Given the description of an element on the screen output the (x, y) to click on. 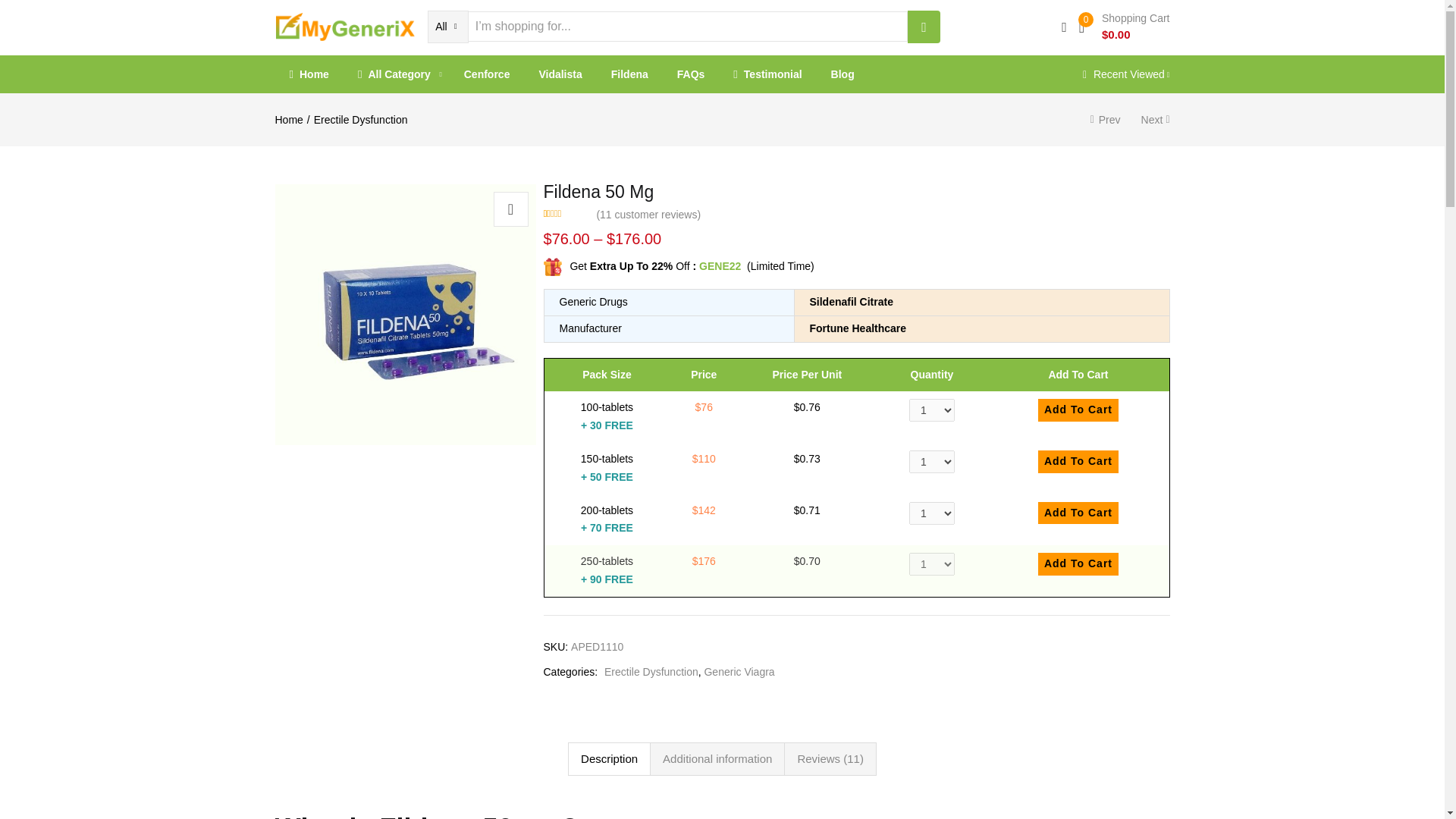
Add To Cart (1078, 513)
View your shopping cart (1124, 26)
Add To Cart (1078, 461)
Add To Cart (1078, 409)
Add To Cart (1078, 563)
 All (447, 26)
Fildena 50 Mg (405, 314)
